Given the description of an element on the screen output the (x, y) to click on. 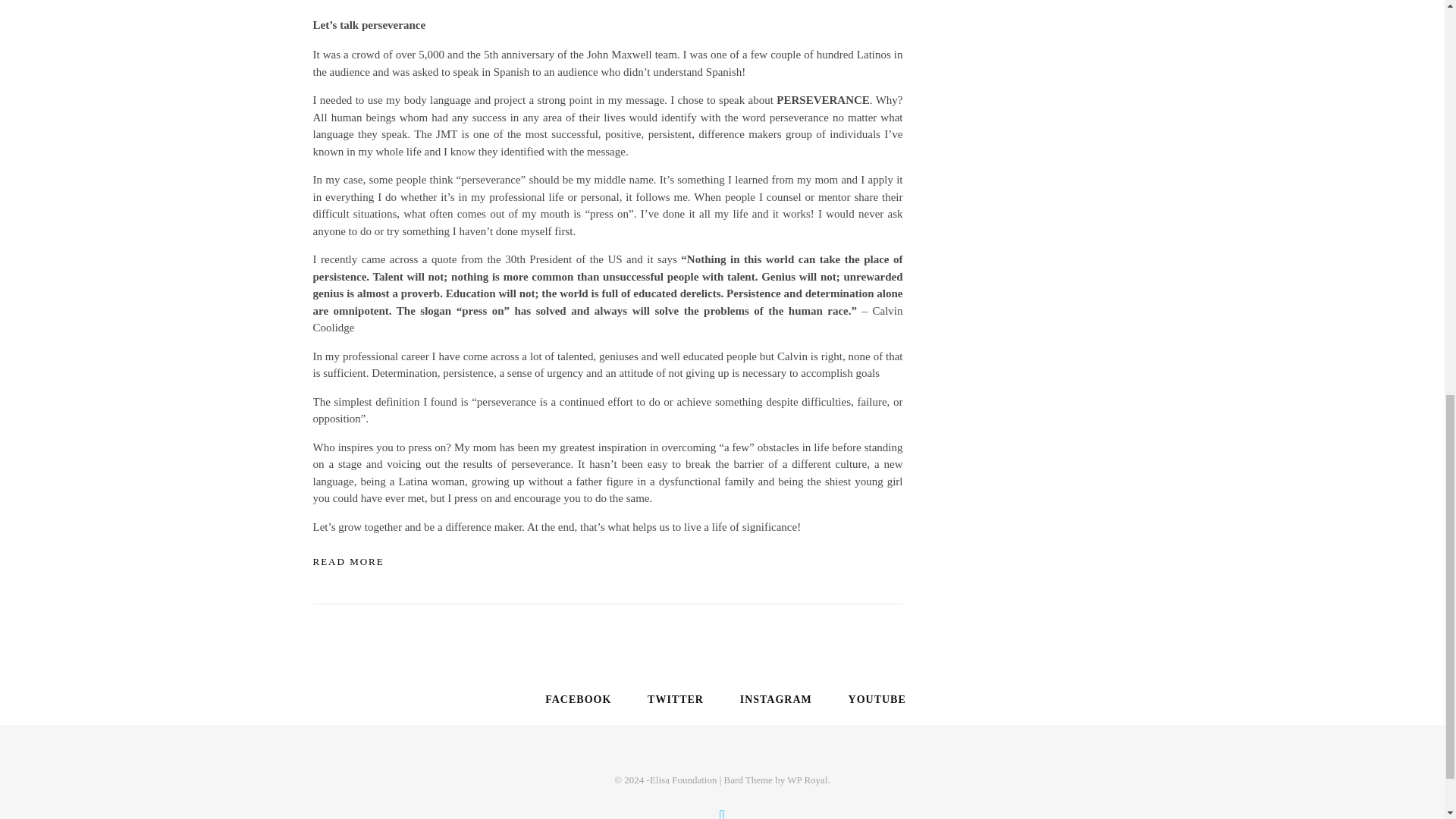
WP Royal (807, 779)
Public Speaker Norma Zambrano (607, 5)
FACEBOOK (574, 699)
TWITTER (671, 699)
READ MORE (348, 562)
YOUTUBE (873, 699)
BACK TO TOP (722, 811)
INSTAGRAM (772, 699)
